Given the description of an element on the screen output the (x, y) to click on. 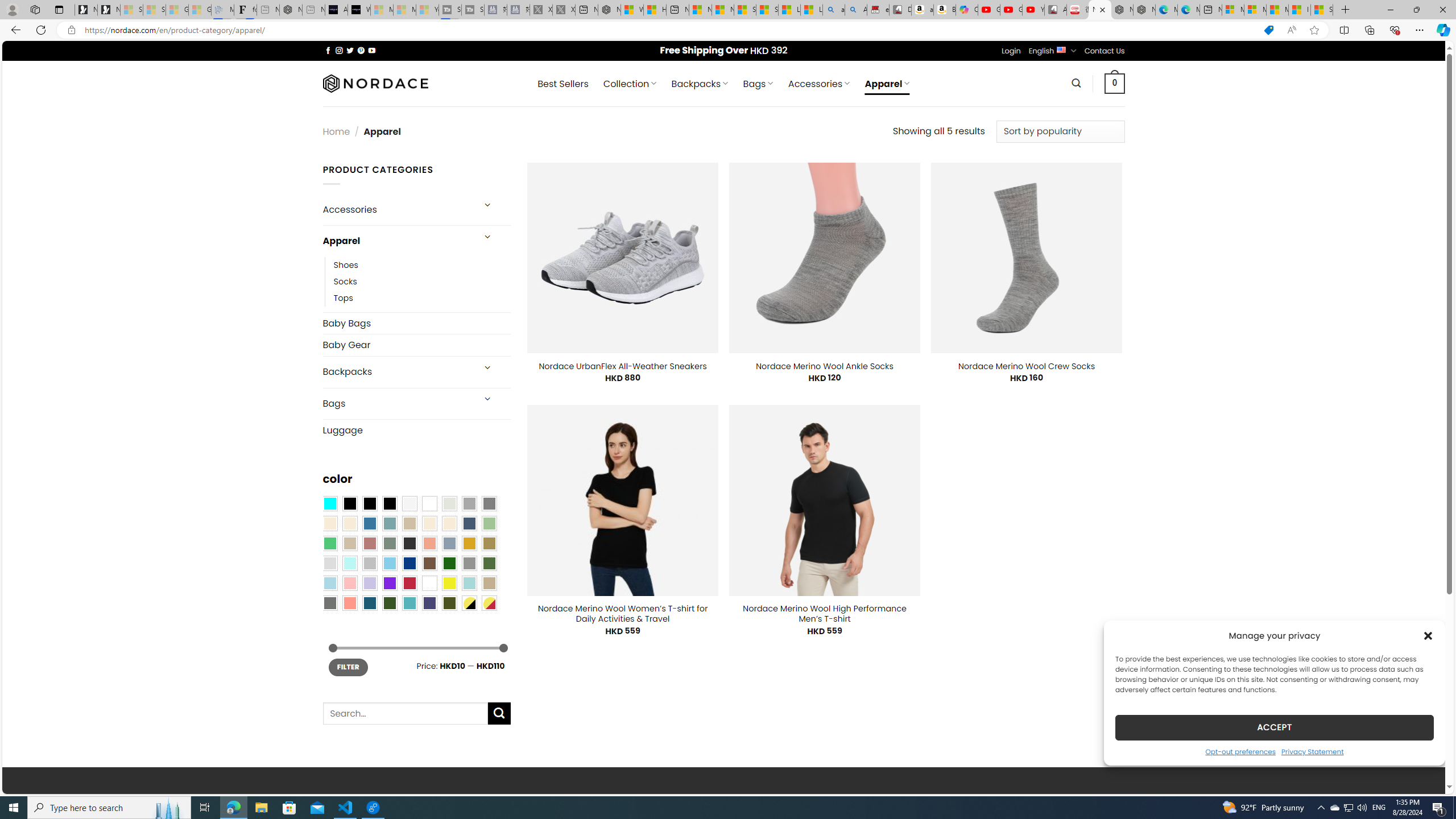
Dusty Blue (449, 542)
Yellow-Red (488, 602)
Light Green (488, 522)
Gold (468, 542)
Nordace Merino Wool Crew Socks (1026, 365)
